Given the description of an element on the screen output the (x, y) to click on. 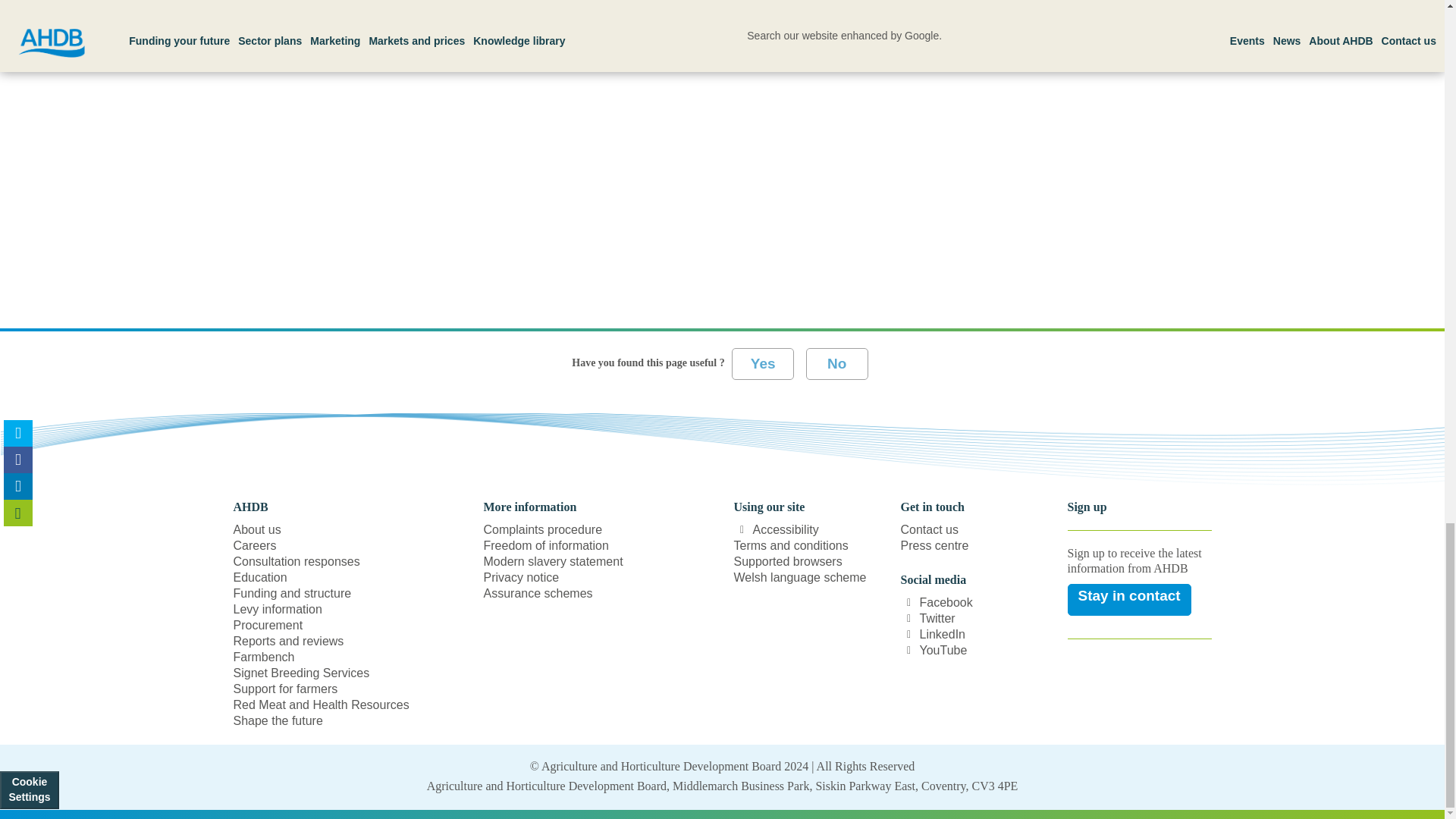
Yes (762, 364)
No (836, 364)
